Given the description of an element on the screen output the (x, y) to click on. 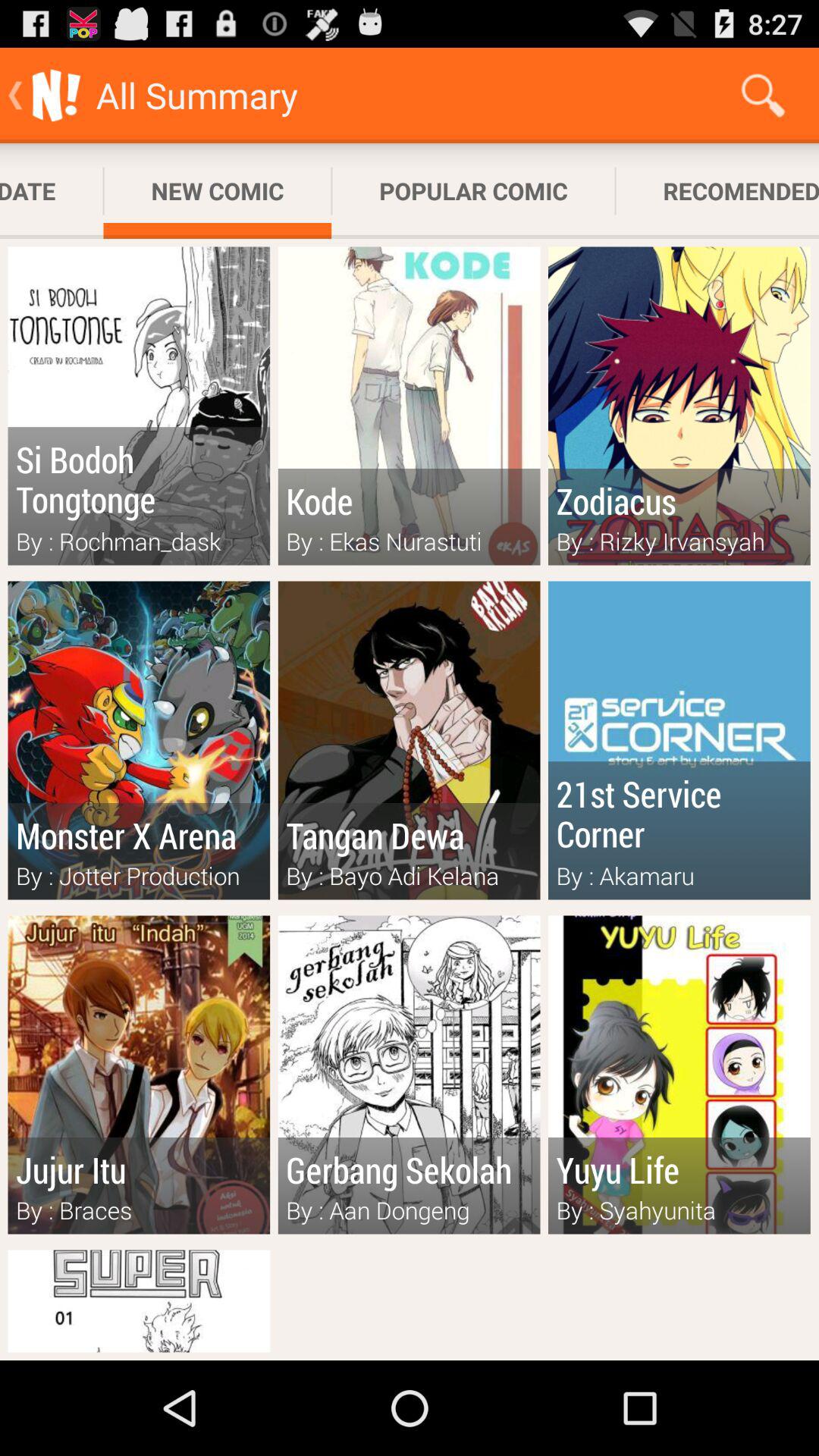
launch the item below all summary (217, 190)
